Given the description of an element on the screen output the (x, y) to click on. 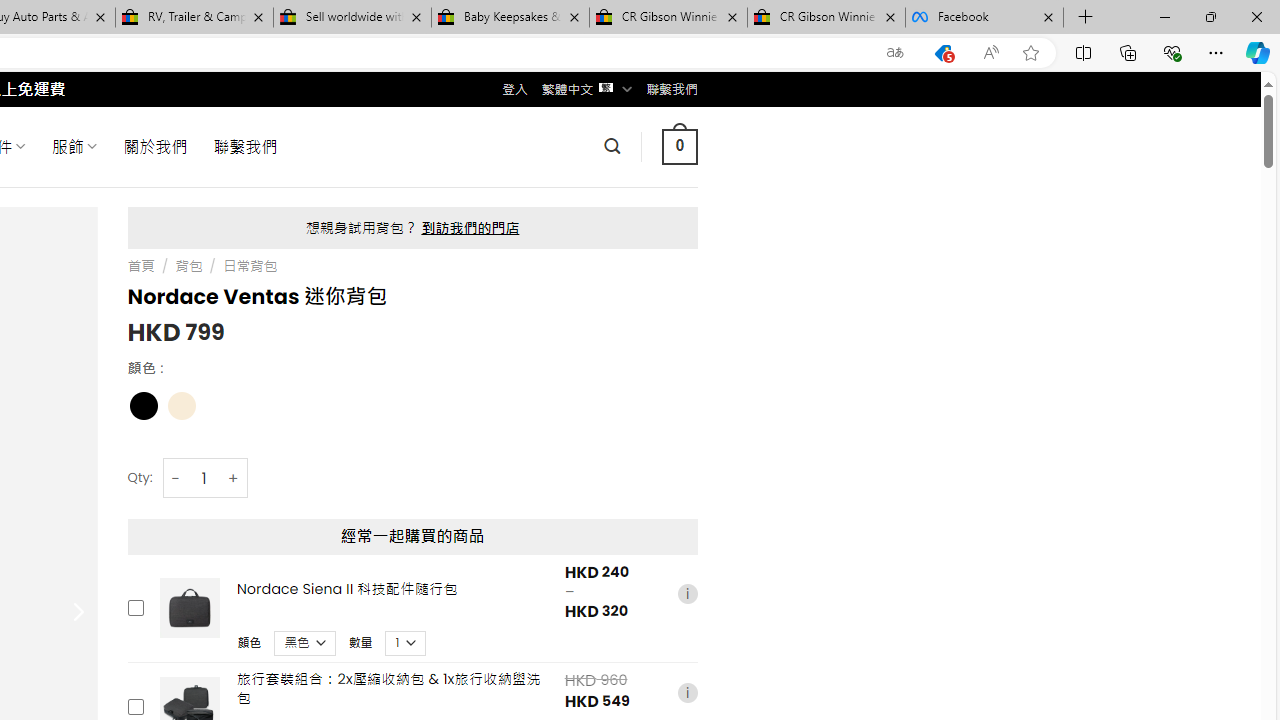
Facebook (984, 17)
+ (234, 477)
This site has coupons! Shopping in Microsoft Edge, 5 (943, 53)
Add this product to cart (134, 707)
- (175, 477)
Class: upsell-v2-product-upsell-variable-product-qty-select (406, 642)
